Given the description of an element on the screen output the (x, y) to click on. 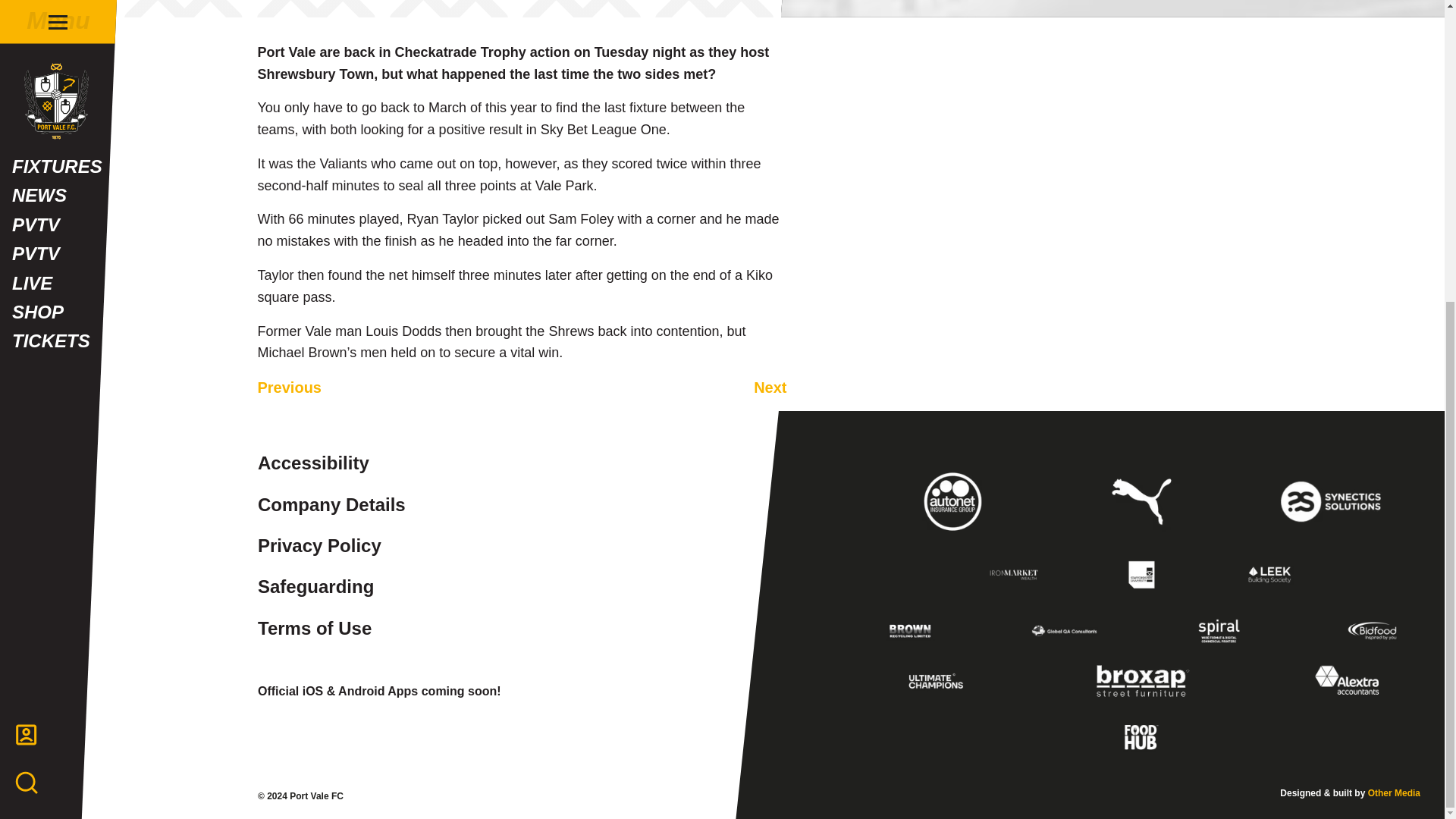
Staffordshire Uni (1141, 574)
Puma (1141, 501)
Ironmarket (1013, 574)
Autonet (953, 501)
Leek Building Society (1269, 574)
Synectics (1330, 501)
